Given the description of an element on the screen output the (x, y) to click on. 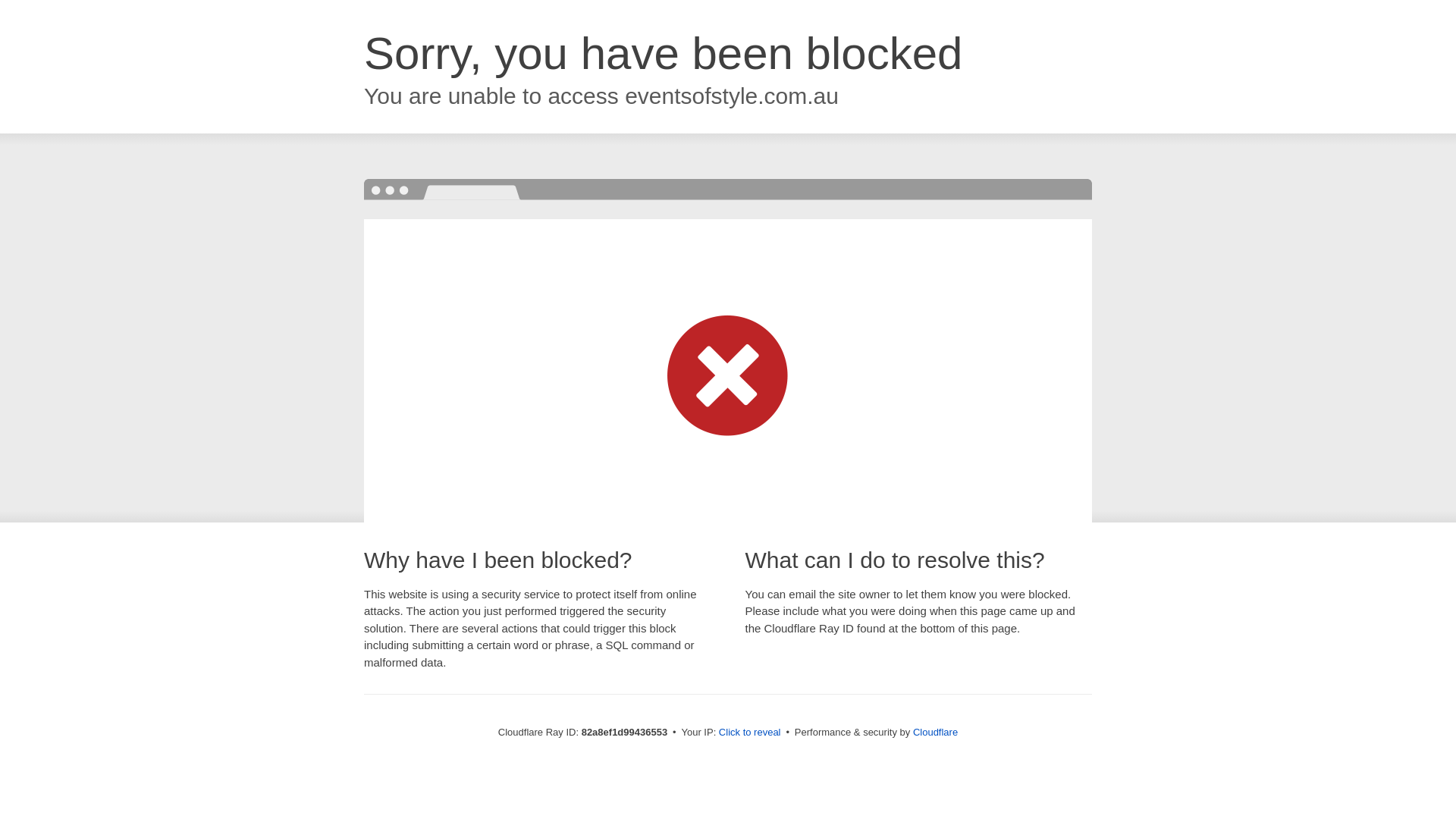
Click to reveal Element type: text (749, 732)
Cloudflare Element type: text (935, 731)
